Given the description of an element on the screen output the (x, y) to click on. 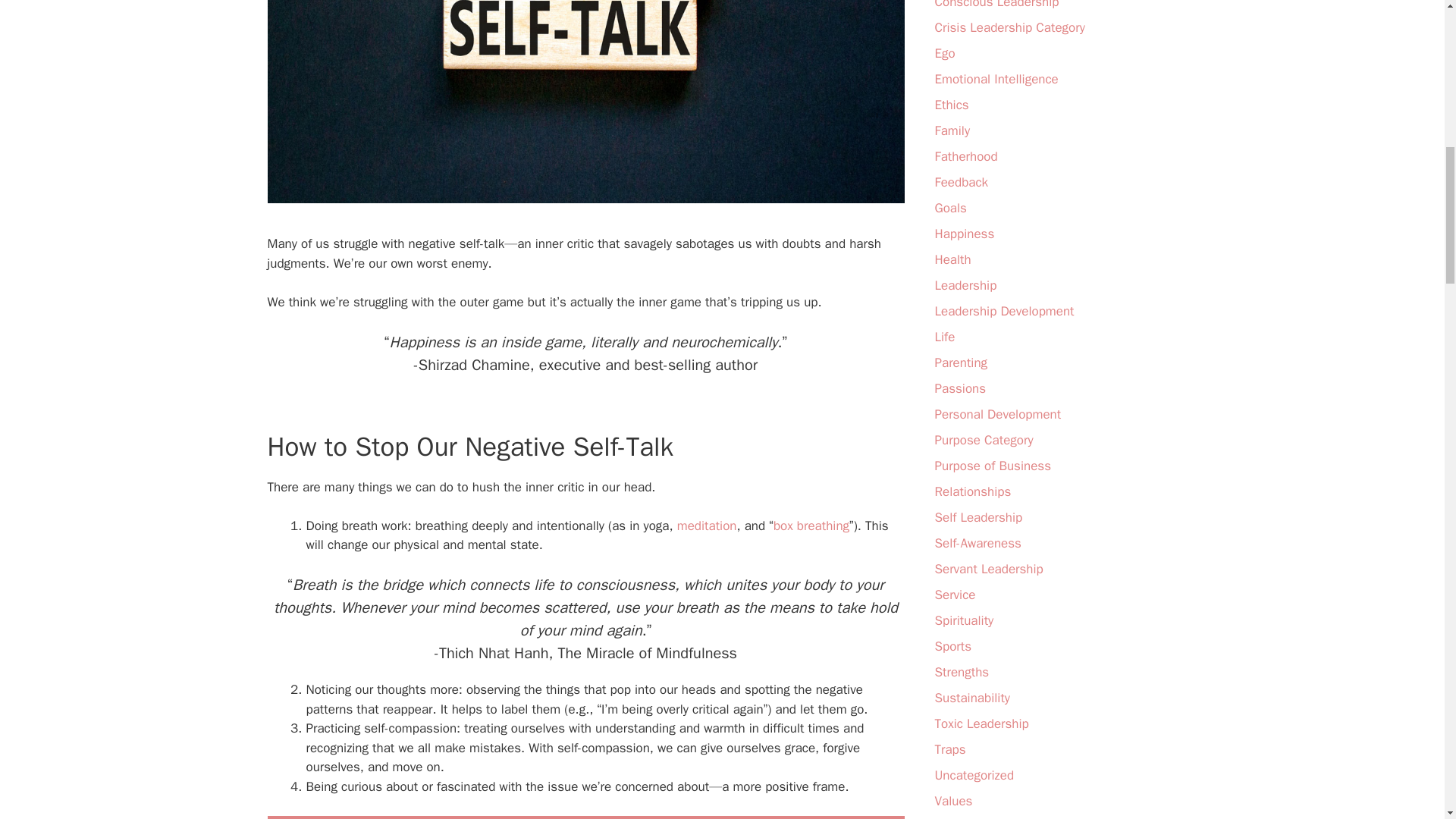
Scroll back to top (1406, 720)
